Given the description of an element on the screen output the (x, y) to click on. 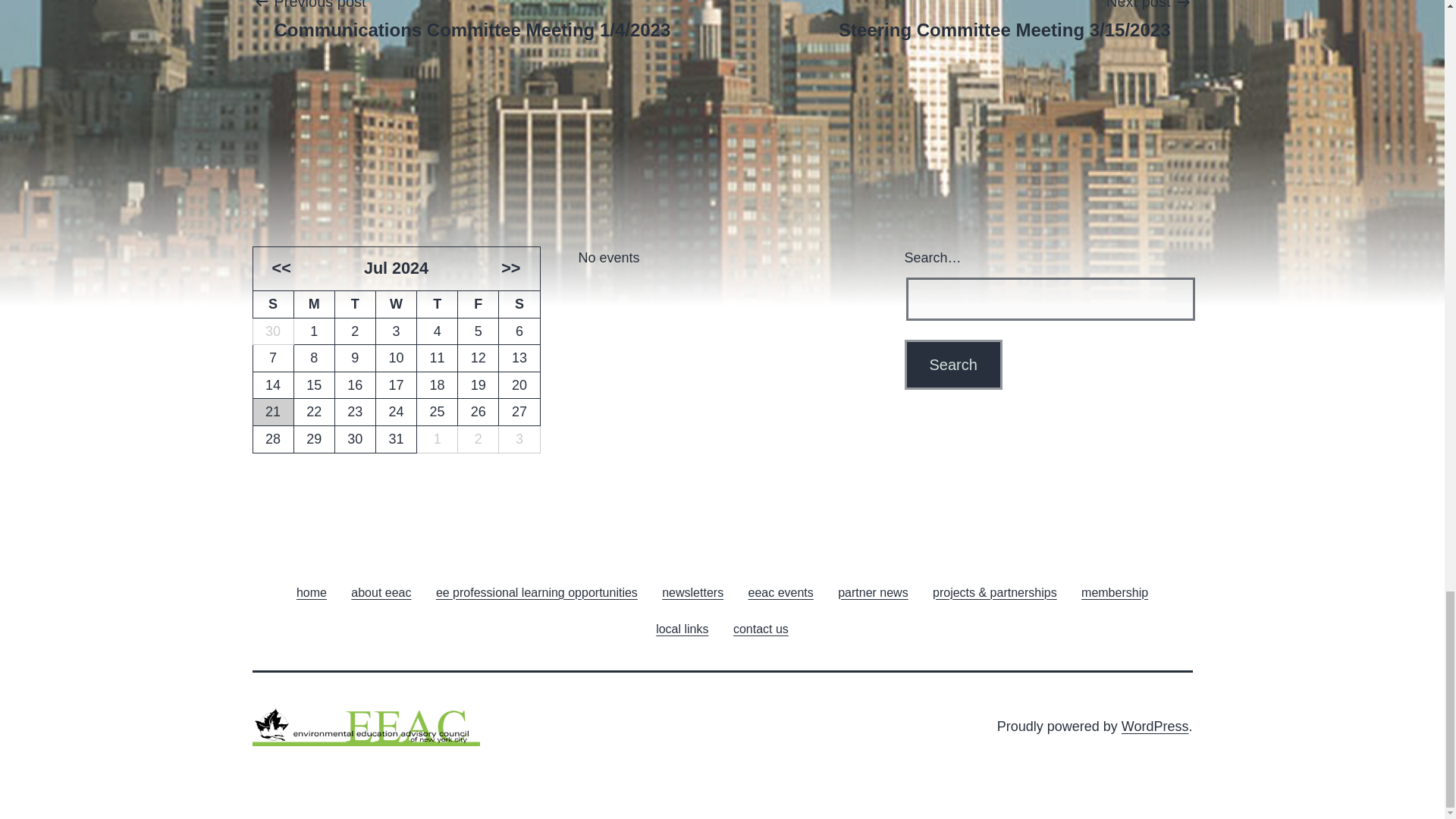
ee professional learning opportunities (536, 591)
contact us (760, 628)
Search (952, 364)
local links (681, 628)
about eeac (381, 591)
eeac events (780, 591)
membership (1114, 591)
newsletters (692, 591)
Search (952, 364)
home (311, 591)
WordPress (1155, 726)
partner news (872, 591)
Search (952, 364)
